Given the description of an element on the screen output the (x, y) to click on. 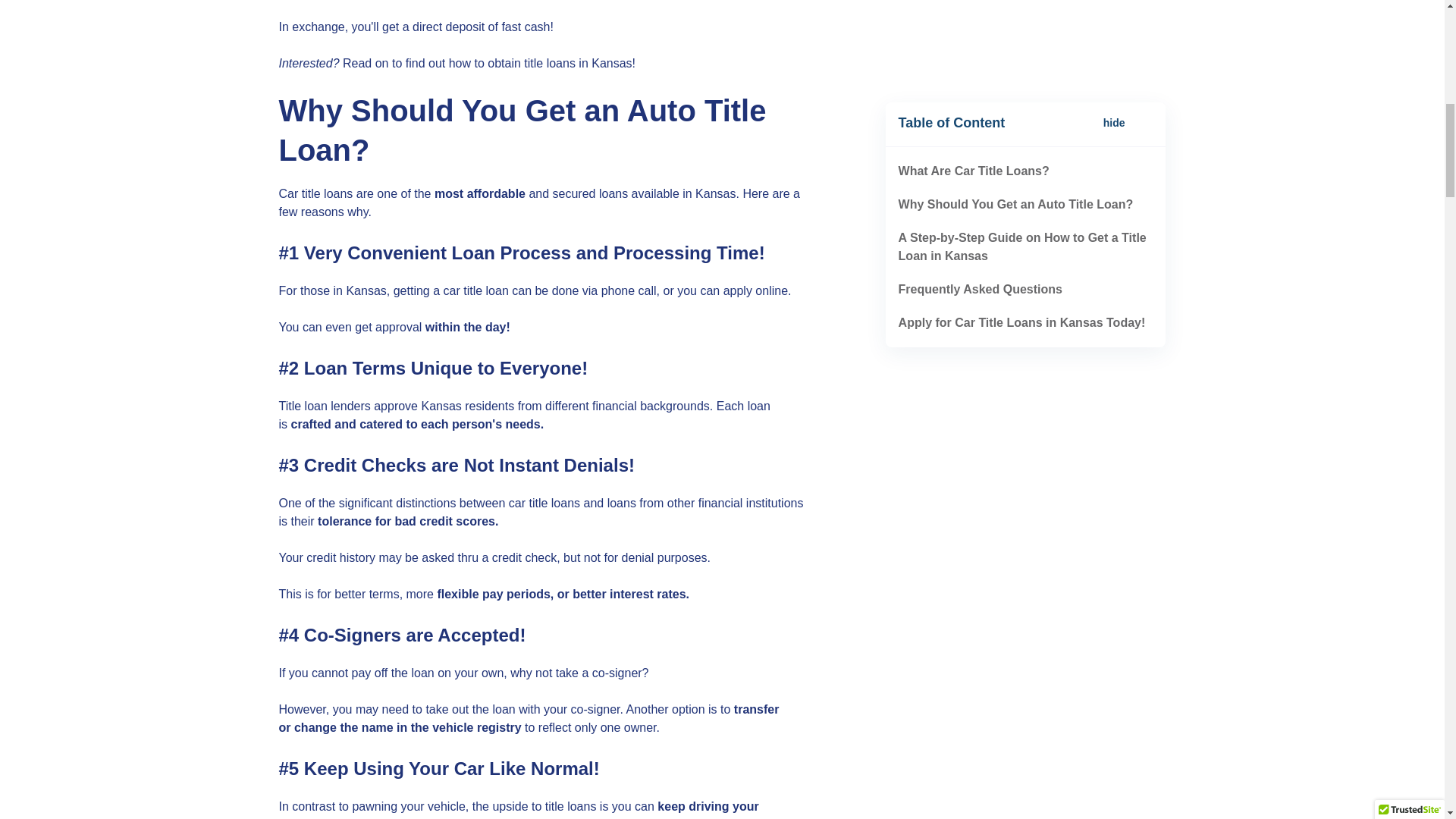
Frequently Asked Questions (980, 22)
Scroll back to top (1406, 675)
Apply for Car Title Loans in Kansas Today! (1021, 56)
